Given the description of an element on the screen output the (x, y) to click on. 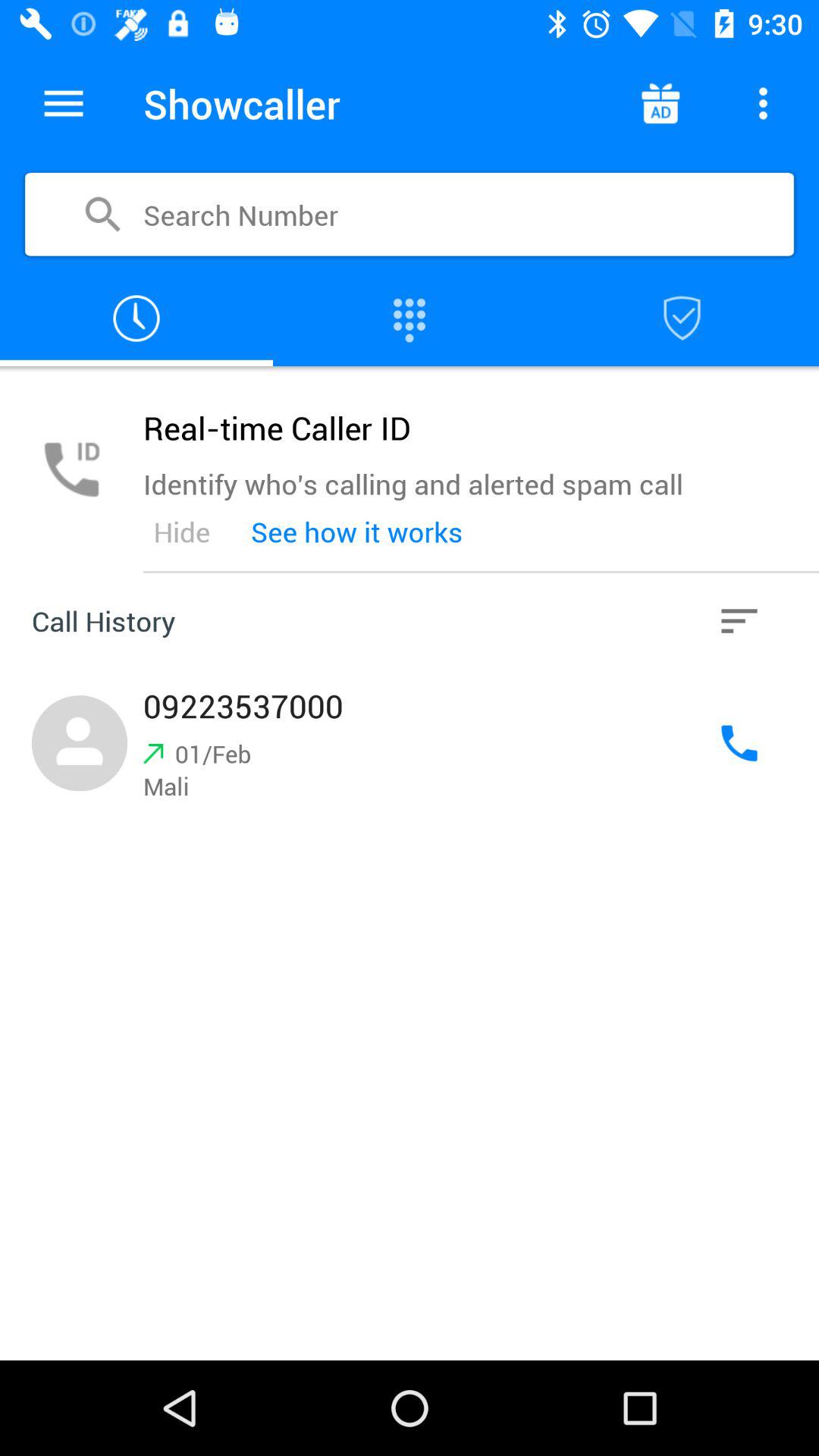
choose item next to showcaller (63, 103)
